Given the description of an element on the screen output the (x, y) to click on. 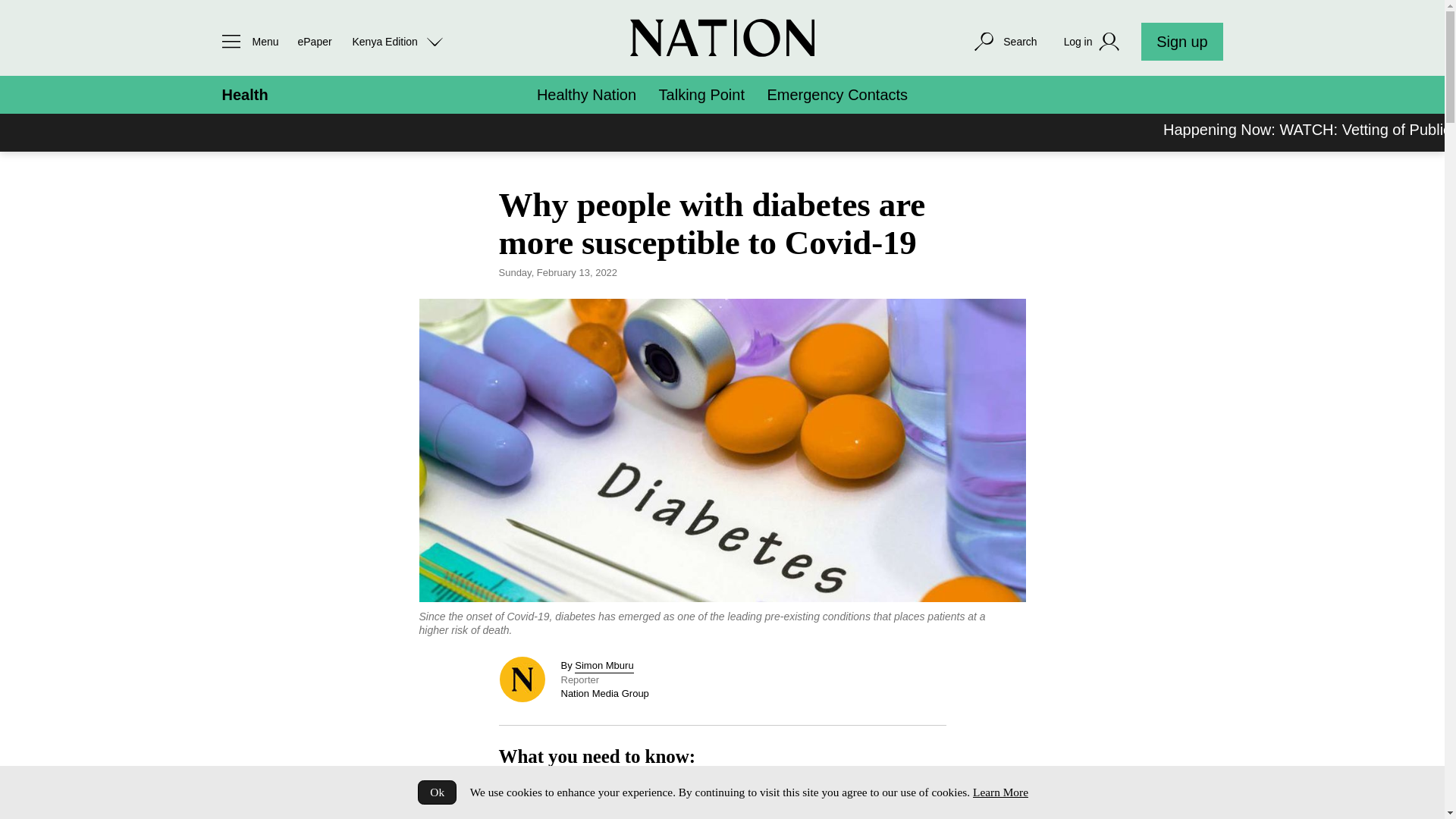
Healthy Nation (586, 94)
Kenya Edition (398, 41)
Learn More (999, 791)
Learn More (999, 791)
Log in (1094, 41)
Emergency Contacts (837, 94)
Talking Point (701, 94)
ePaper (314, 41)
Menu (246, 41)
Health (244, 94)
Sign up (1182, 41)
Search (1003, 41)
Ok (437, 792)
